Given the description of an element on the screen output the (x, y) to click on. 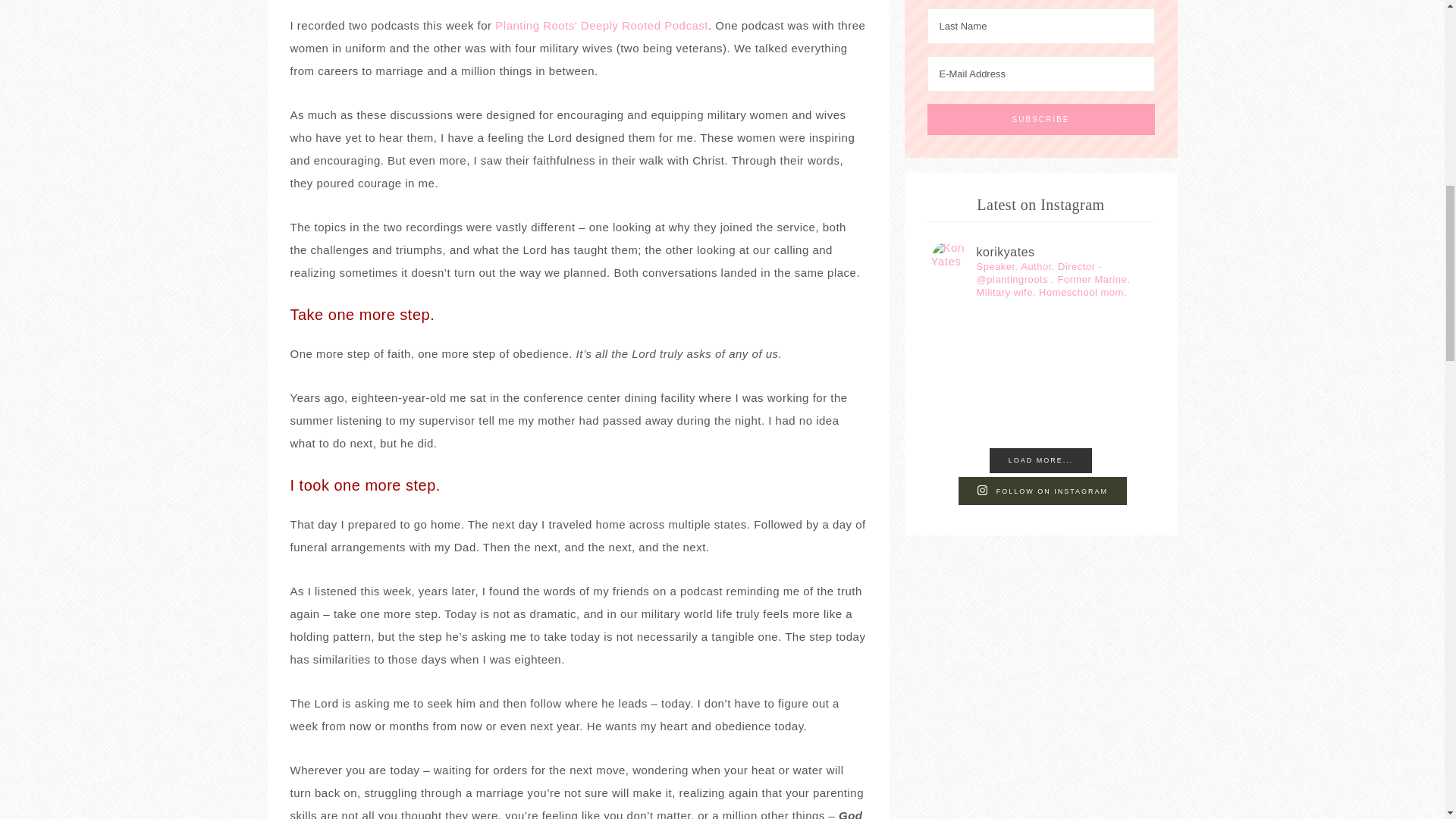
Subscribe (1040, 119)
Deeply Rooted Podcast (643, 24)
